Given the description of an element on the screen output the (x, y) to click on. 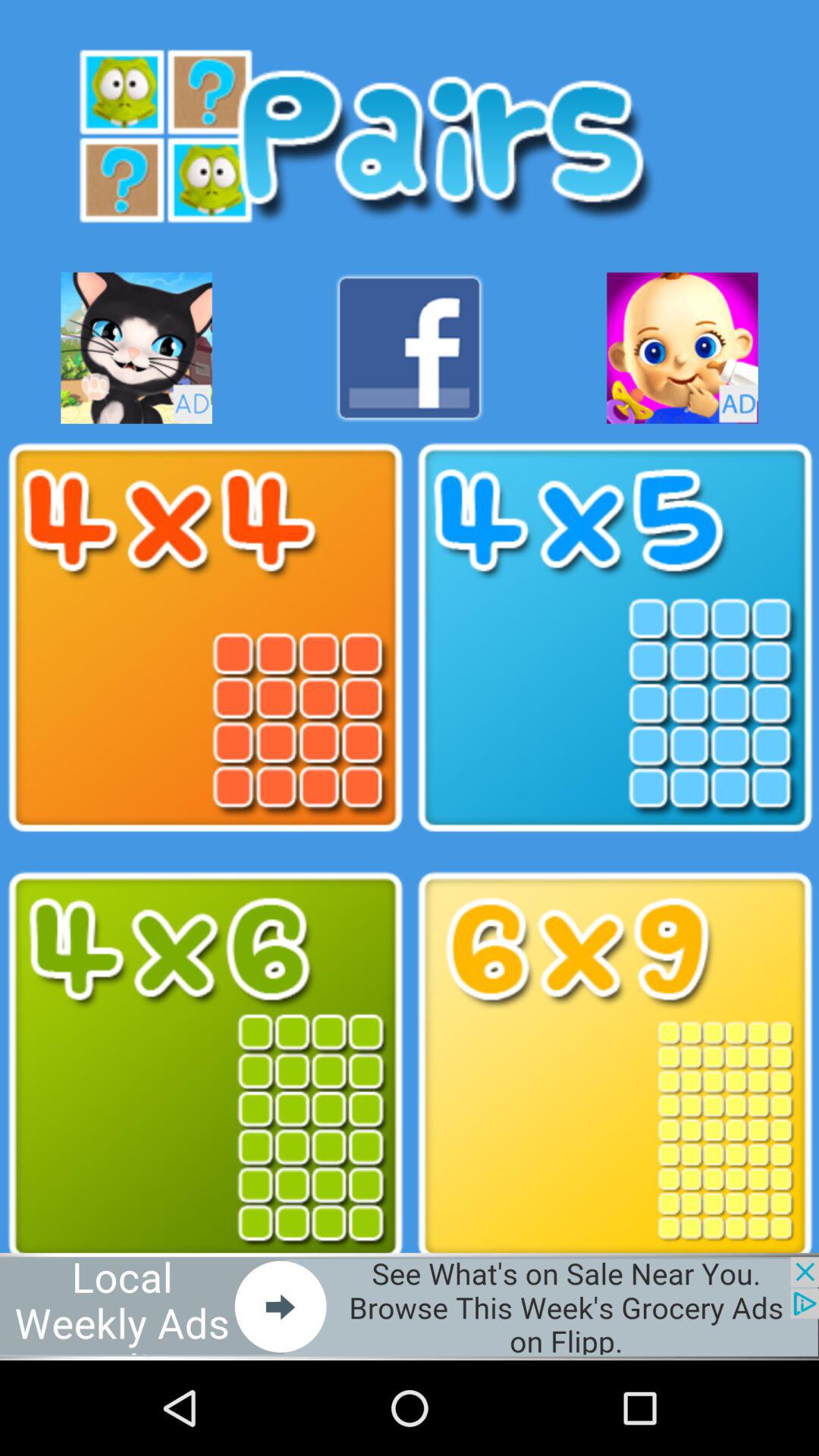
6x9 format (614, 1066)
